Given the description of an element on the screen output the (x, y) to click on. 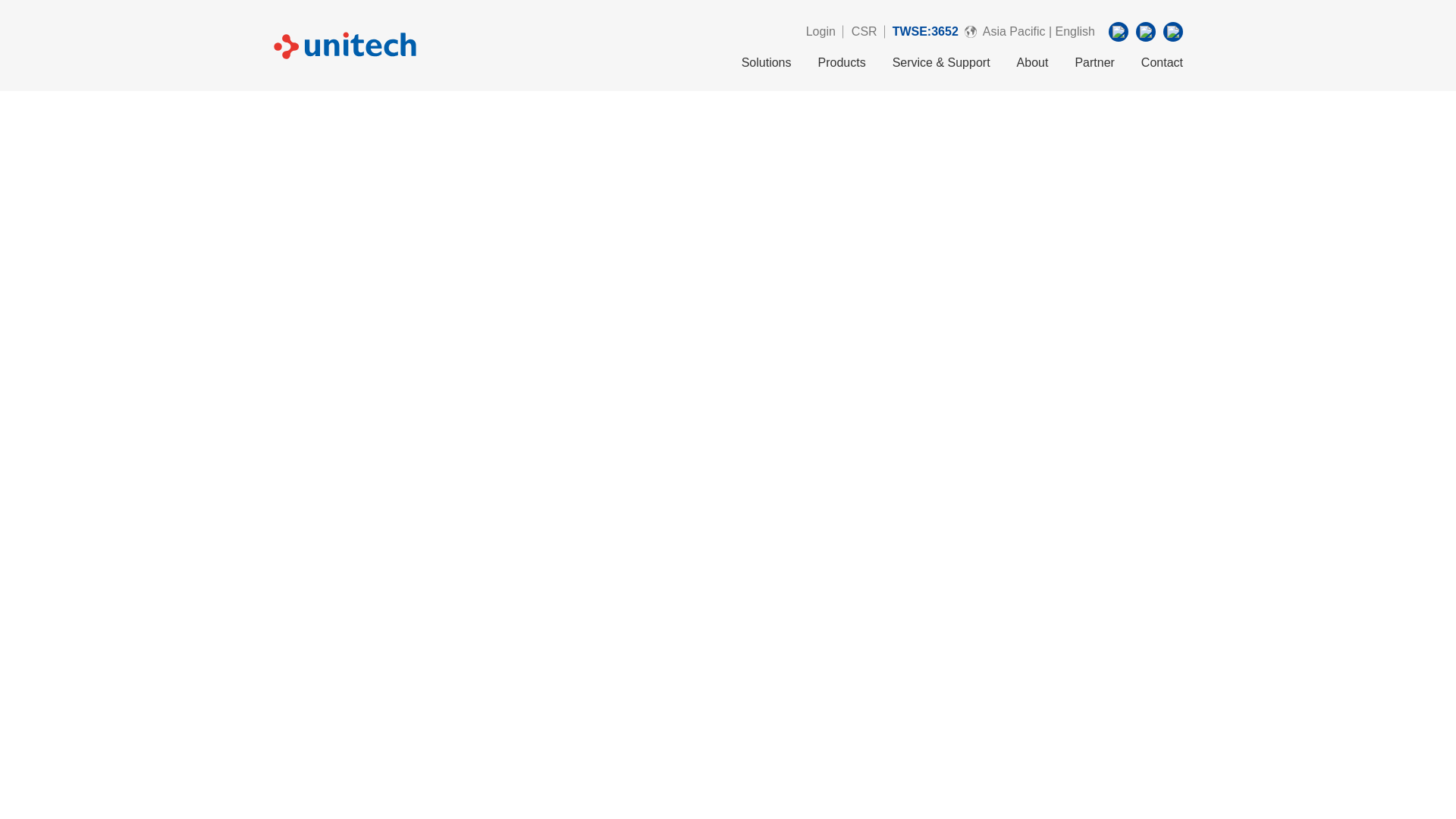
TWSE:3652 (925, 31)
CSR (864, 31)
Login (820, 31)
